Given the description of an element on the screen output the (x, y) to click on. 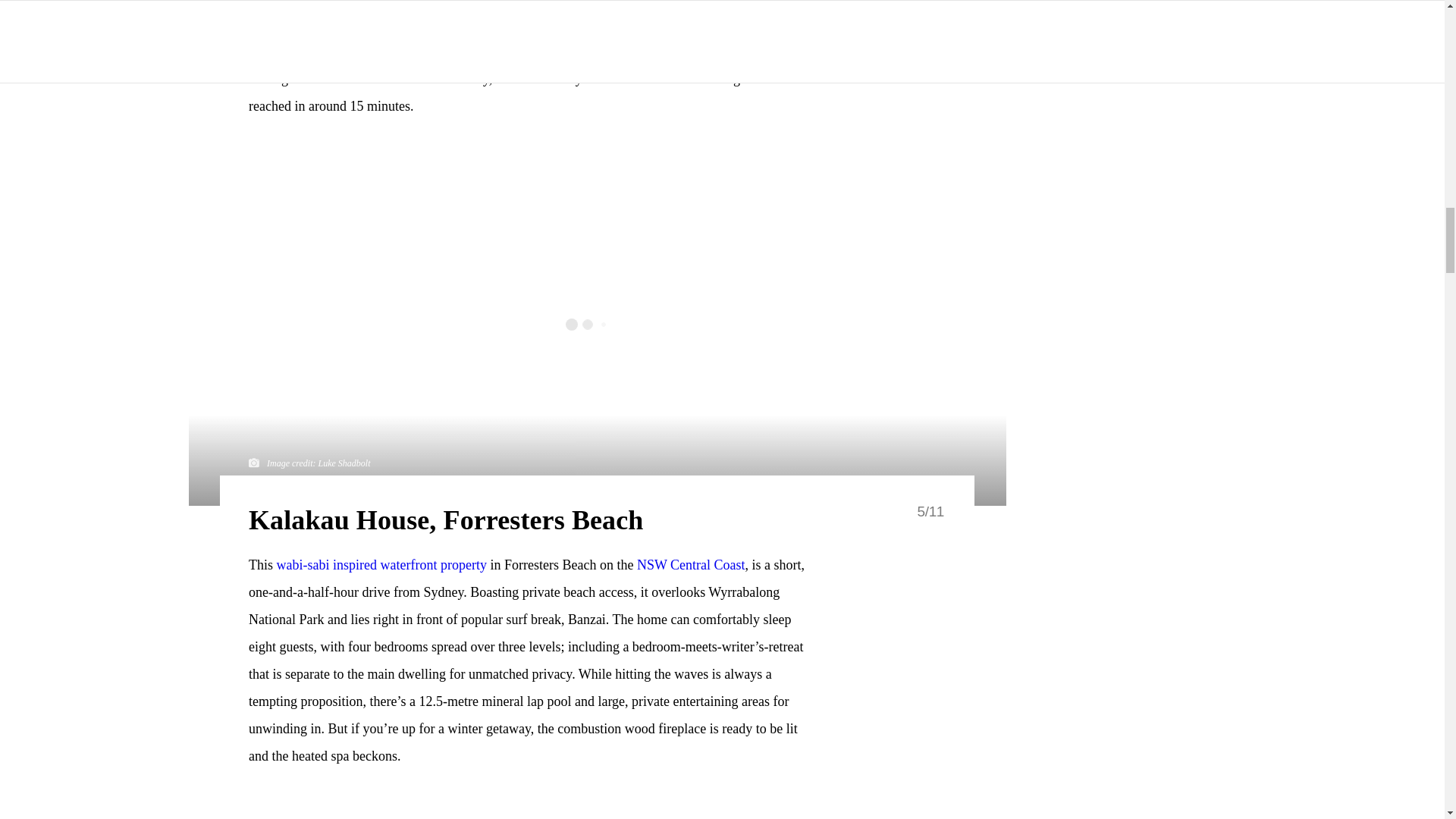
NSW Central Coast (691, 564)
wabi-sabi inspired waterfront property (381, 564)
Kalakua House (381, 564)
Why the Central Coast is NSW's Coolest Long-weekender (691, 564)
